Given the description of an element on the screen output the (x, y) to click on. 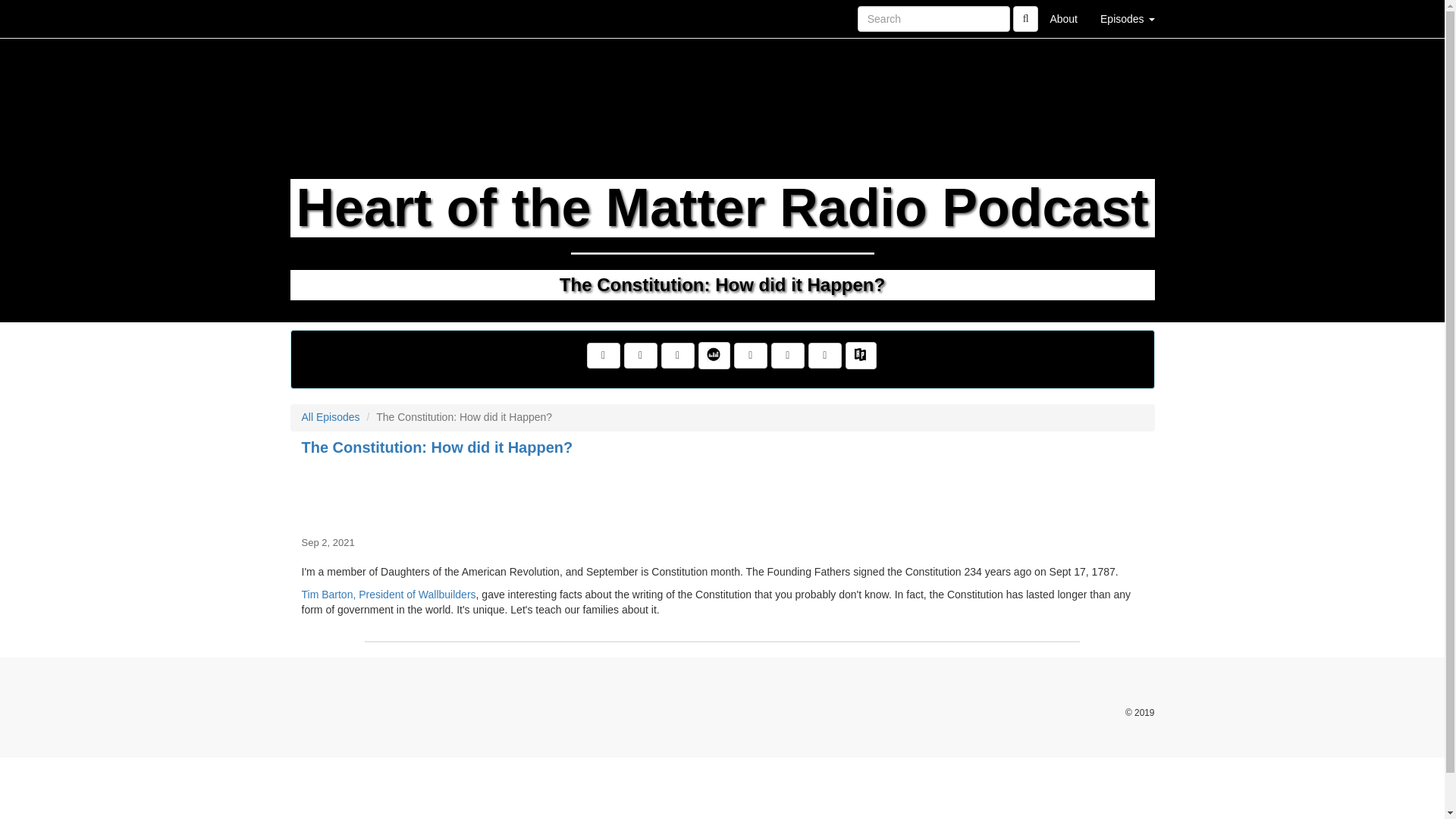
The Constitution: How did it Happen? (721, 493)
About (1063, 18)
Home Page (320, 18)
Episodes (1127, 18)
